Given the description of an element on the screen output the (x, y) to click on. 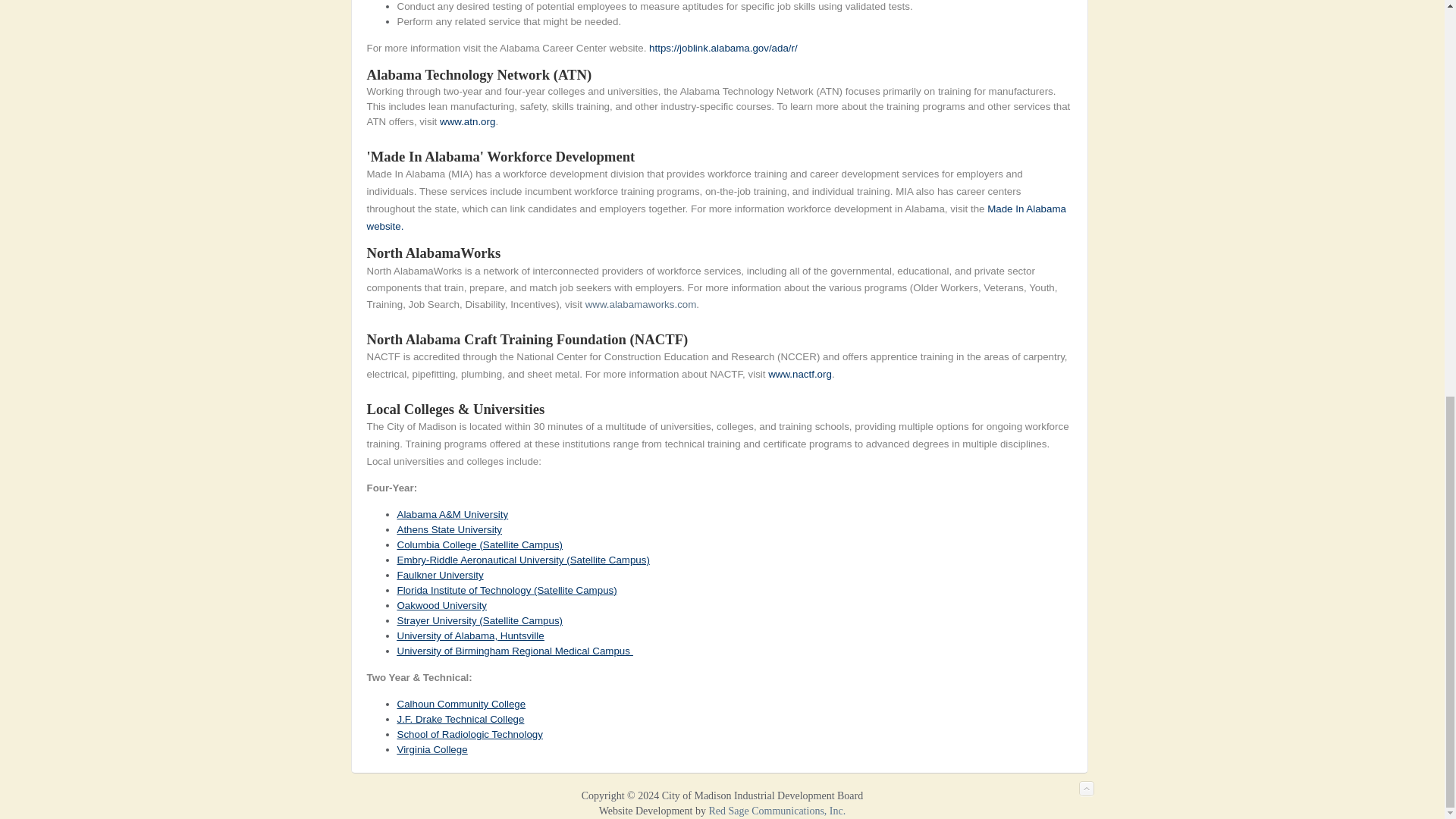
www.alabamaworks.com (641, 304)
workforce development in (844, 208)
www.atn.org (467, 121)
Made In Alabama website (715, 217)
